Given the description of an element on the screen output the (x, y) to click on. 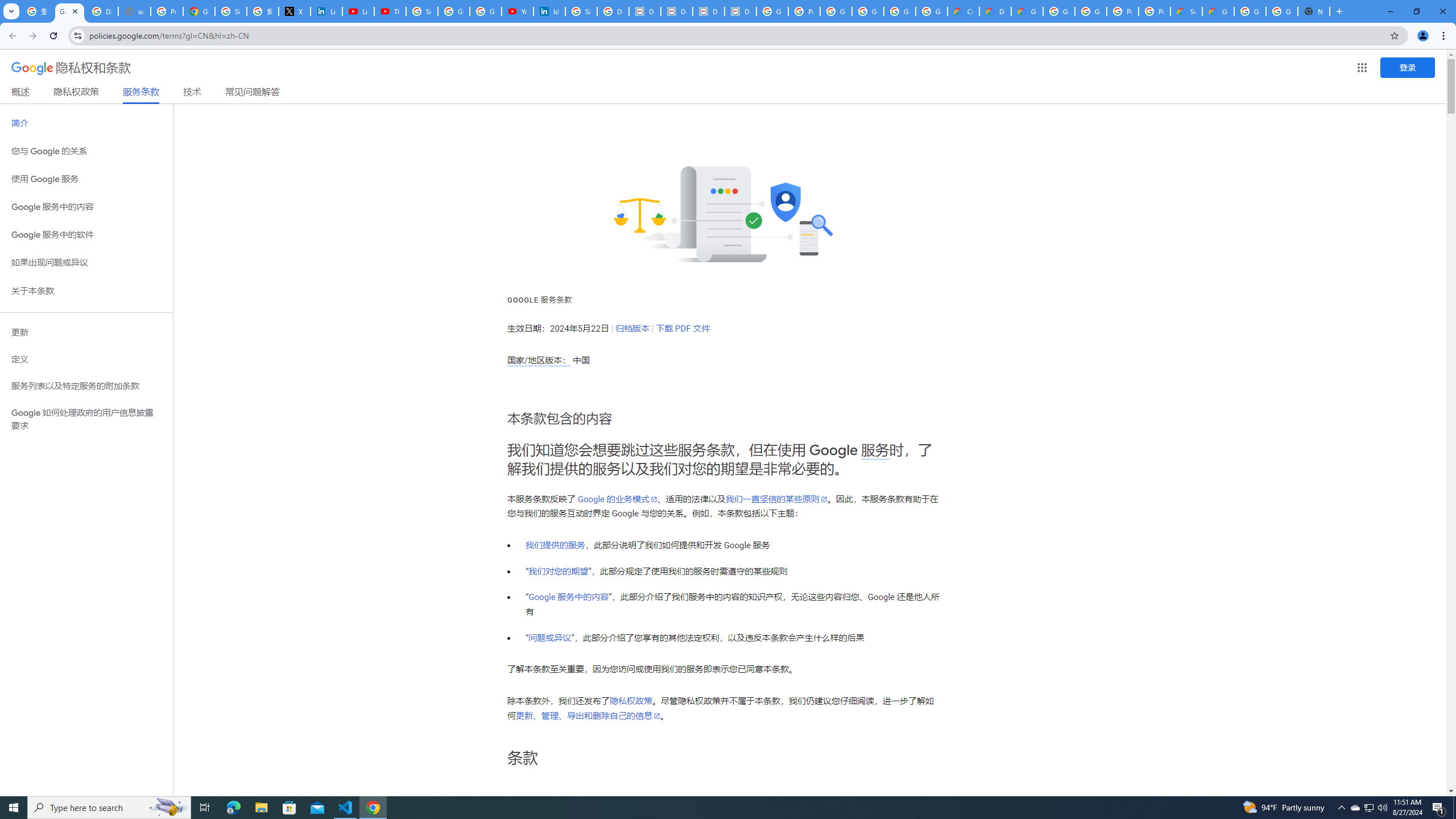
Data Privacy Framework (740, 11)
Google Cloud Platform (1059, 11)
X (294, 11)
